Given the description of an element on the screen output the (x, y) to click on. 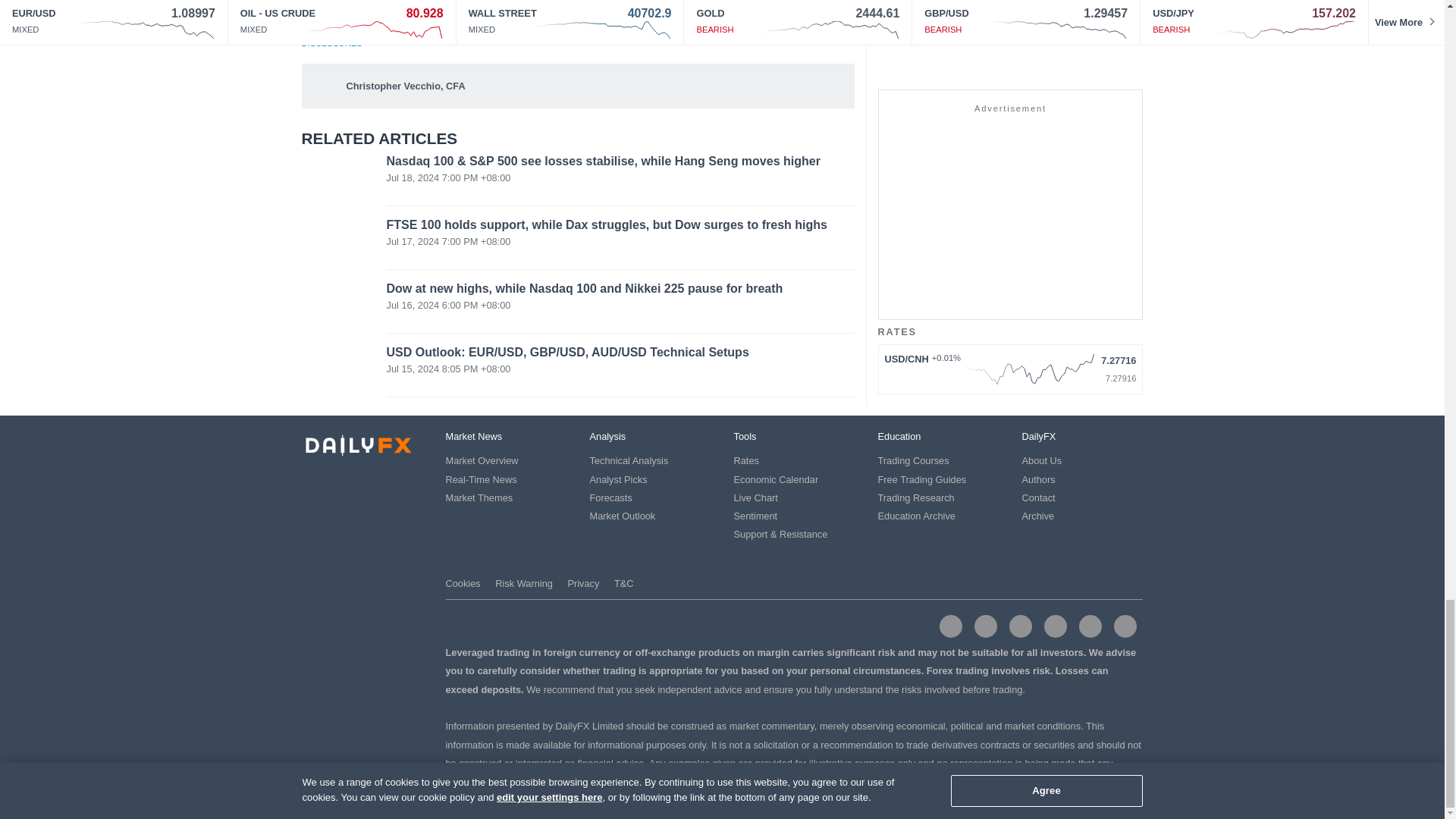
Market Outlook (622, 515)
Tools (745, 436)
Technical Analysis (628, 460)
Market News (473, 436)
Analysis (607, 436)
Real-Time News (480, 478)
Analyst Picks (618, 478)
Forecasts (610, 497)
Market Themes (479, 497)
Market Overview (481, 460)
